Given the description of an element on the screen output the (x, y) to click on. 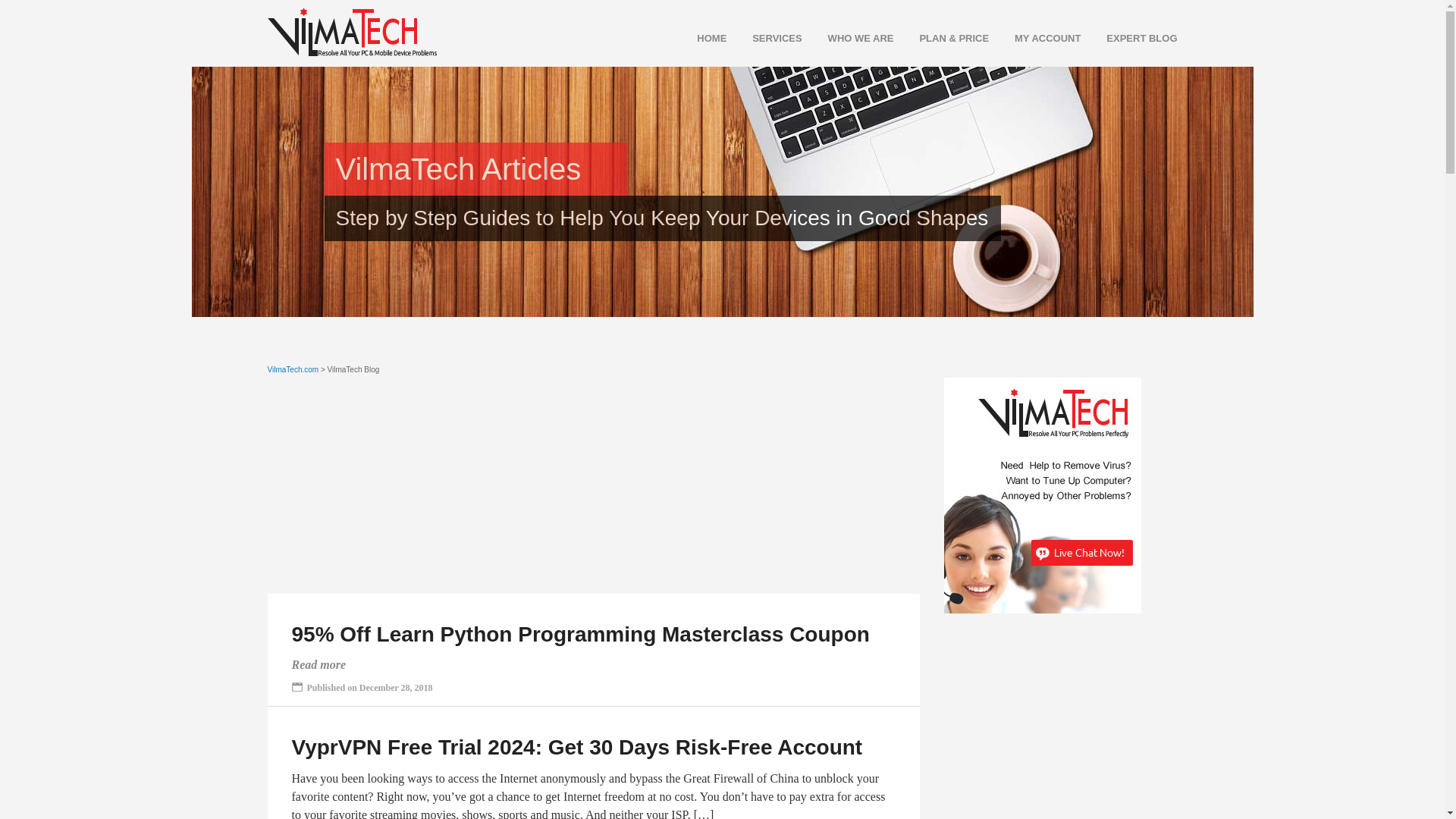
WHO WE ARE (849, 38)
HOME (700, 38)
VilmaTech.com (292, 369)
SERVICES (765, 38)
MY ACCOUNT (1035, 38)
VyprVPN Free Trial 2024: Get 30 Days Risk-Free Account (576, 747)
EXPERT BLOG (1129, 38)
Read more (318, 664)
